Given the description of an element on the screen output the (x, y) to click on. 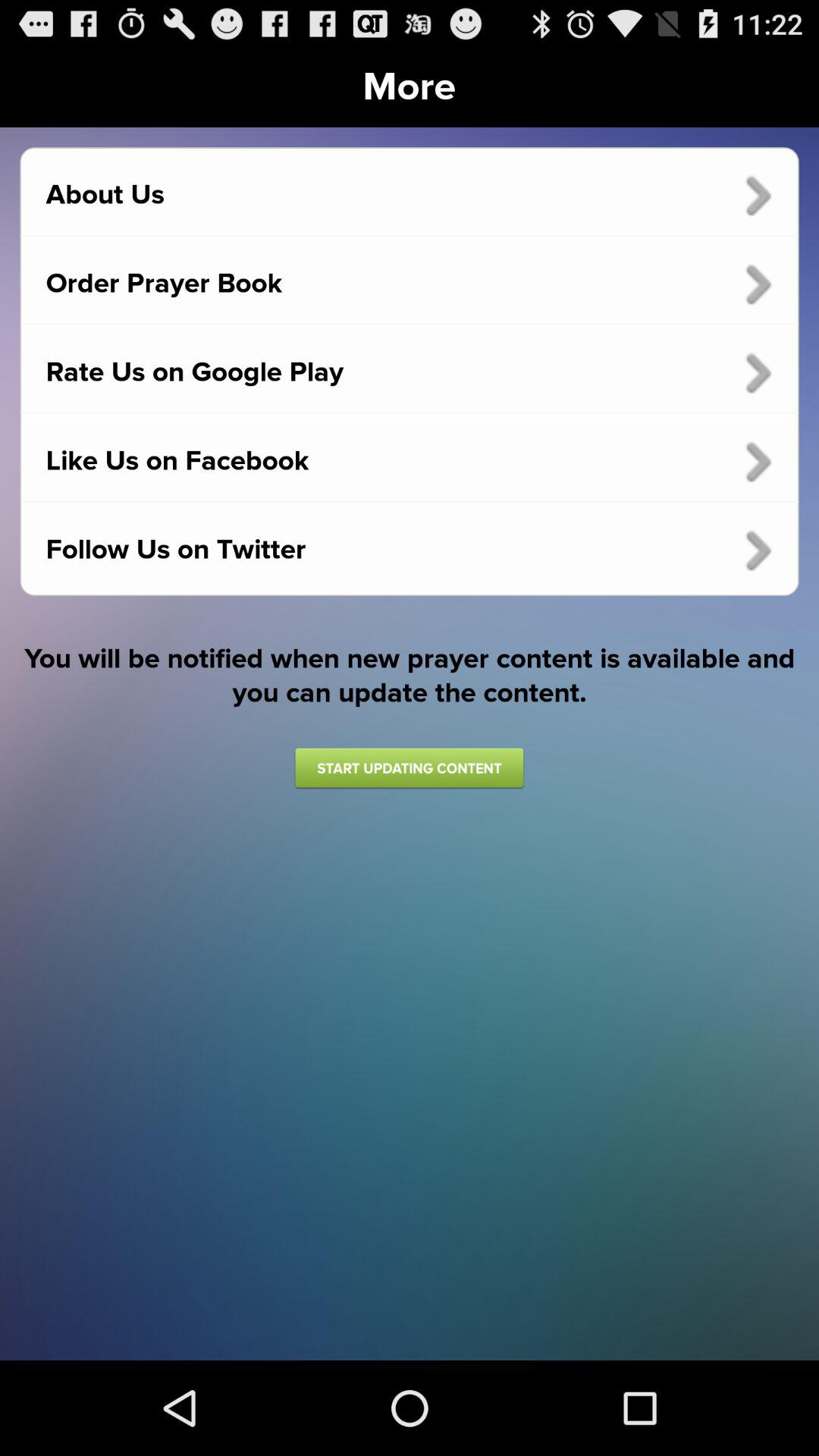
scroll until about us item (409, 195)
